Given the description of an element on the screen output the (x, y) to click on. 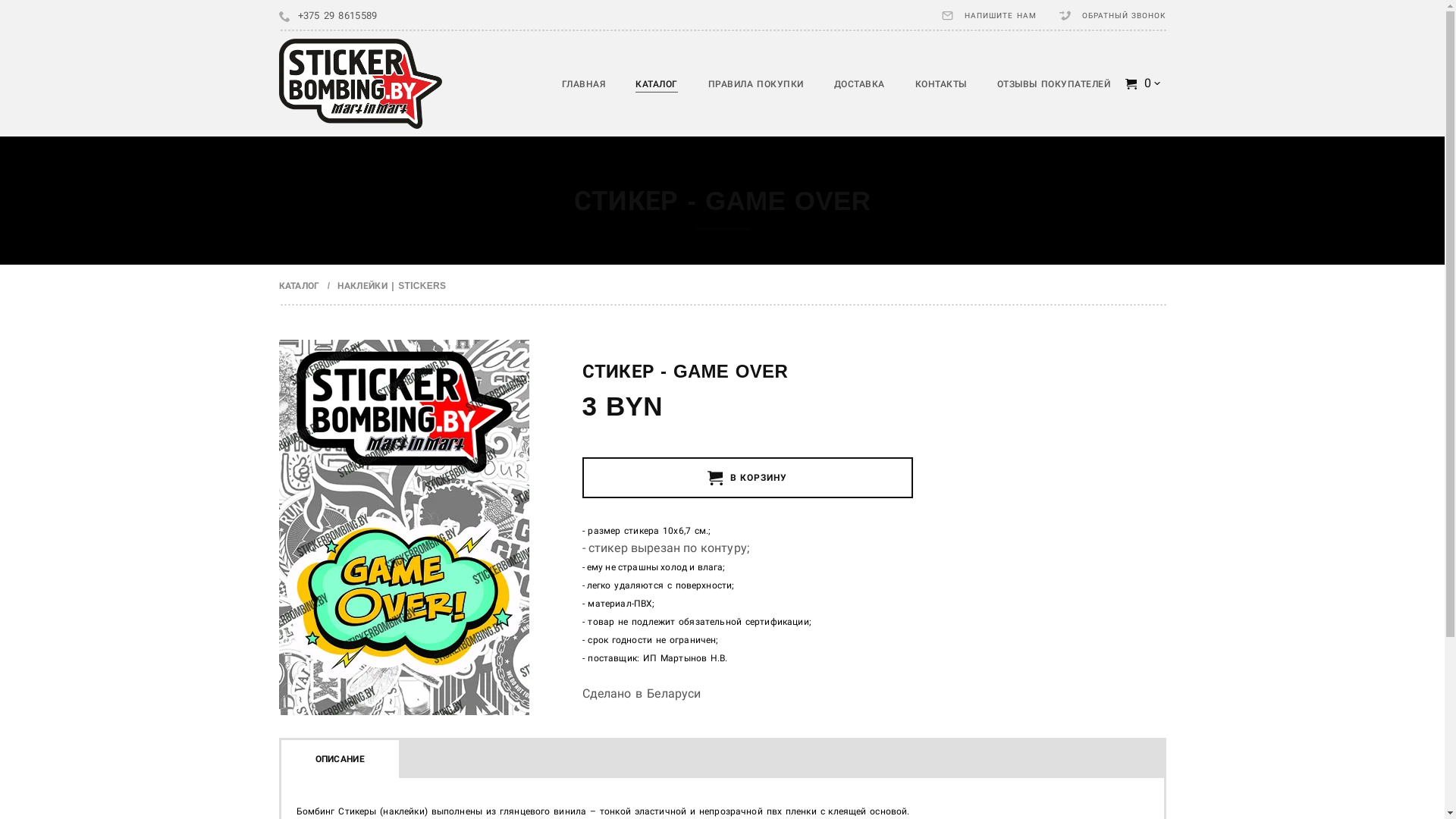
+375 29 8615589 Element type: text (336, 15)
0 Element type: text (1144, 83)
